Given the description of an element on the screen output the (x, y) to click on. 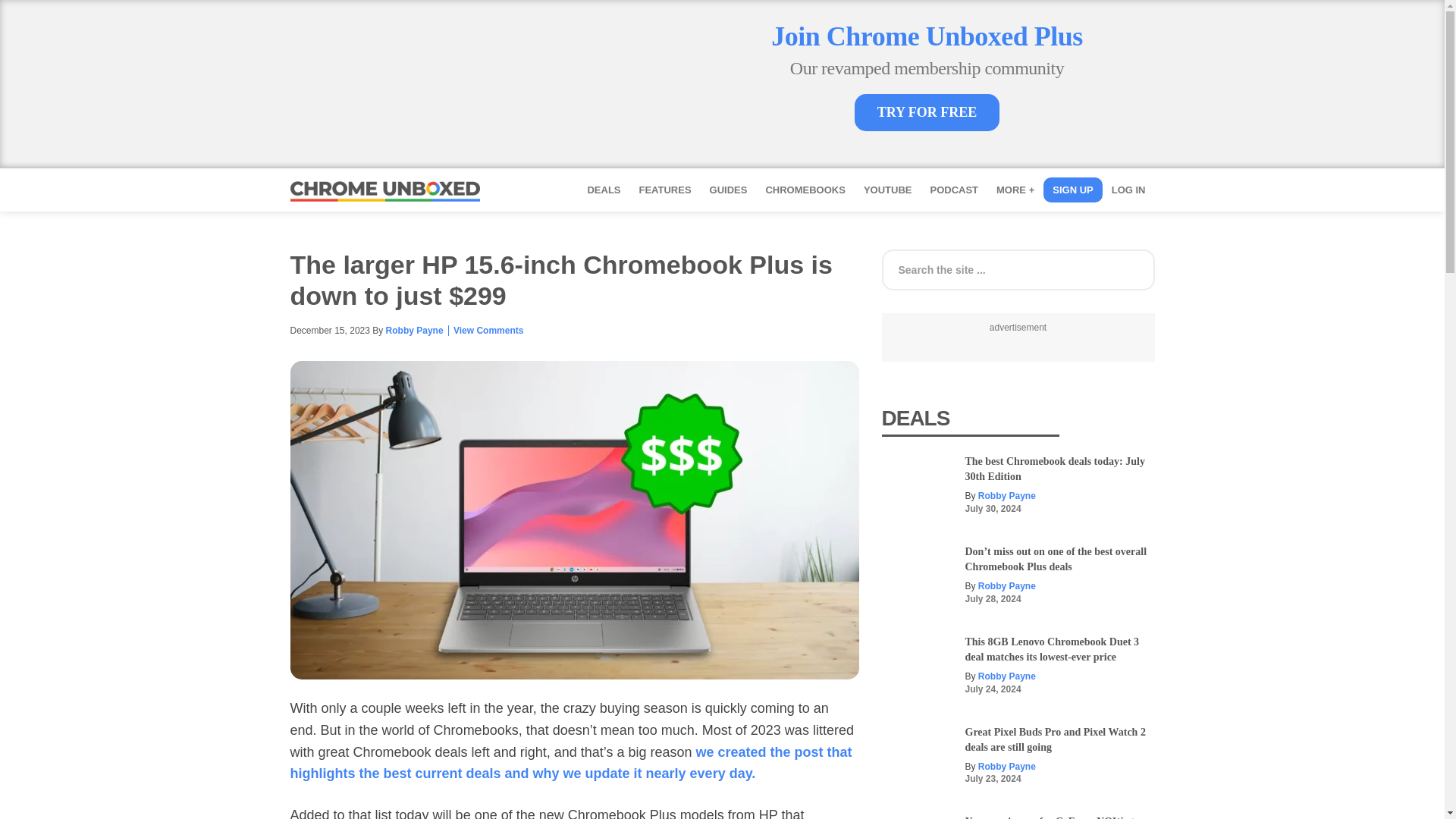
TRY FOR FREE (927, 112)
GUIDES (728, 189)
CHROMEBOOKS (804, 189)
FEATURES (664, 189)
Search (1290, 263)
YOUTUBE (887, 189)
Search (1290, 263)
DEALS (603, 189)
PODCAST (953, 189)
